Given the description of an element on the screen output the (x, y) to click on. 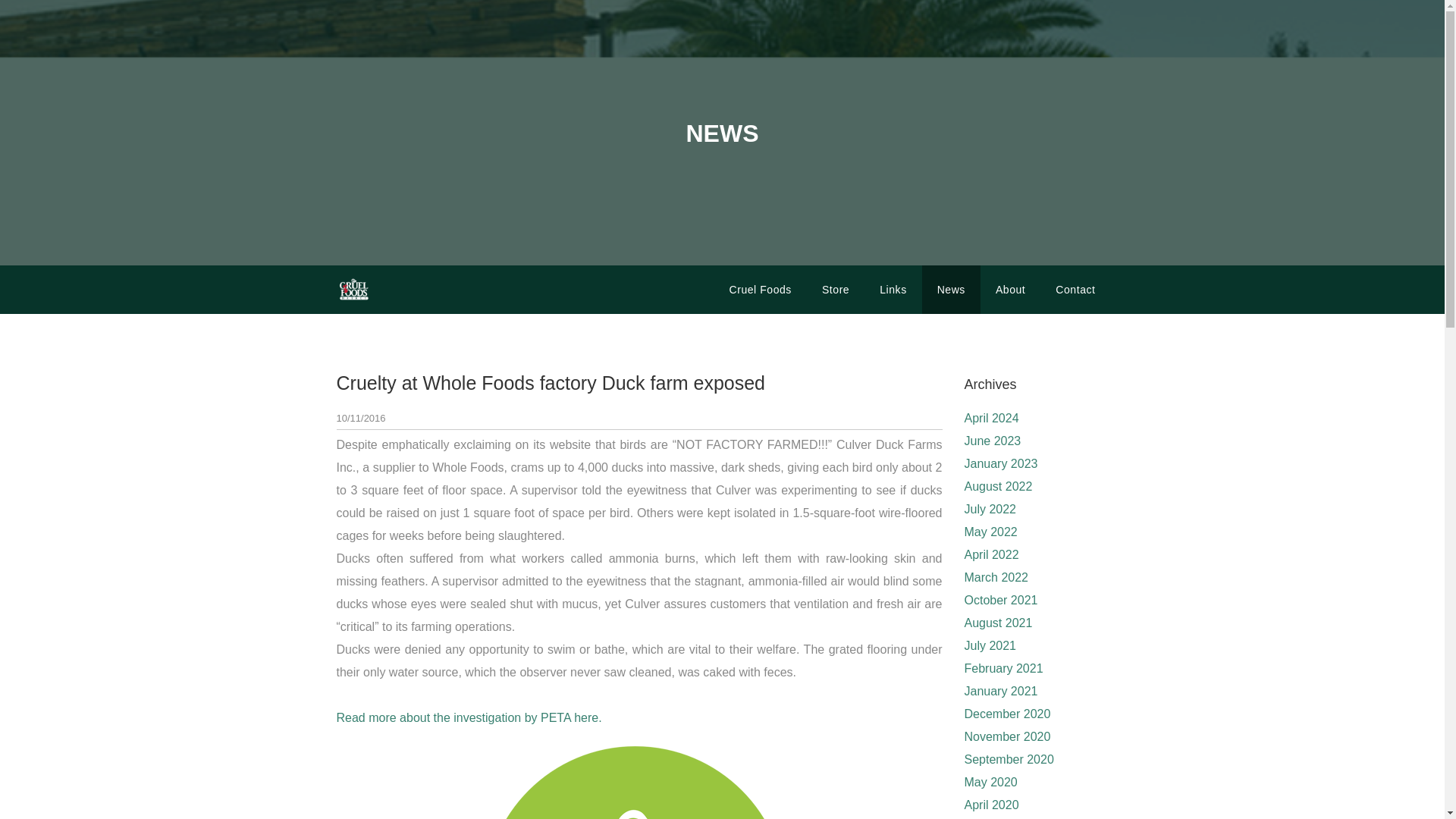
Links (892, 289)
March 2022 (996, 576)
April 2022 (991, 554)
April 2024 (991, 418)
October 2021 (1000, 599)
About (1010, 289)
February 2021 (1003, 667)
Store (835, 289)
News (950, 289)
May 2022 (990, 531)
